Given the description of an element on the screen output the (x, y) to click on. 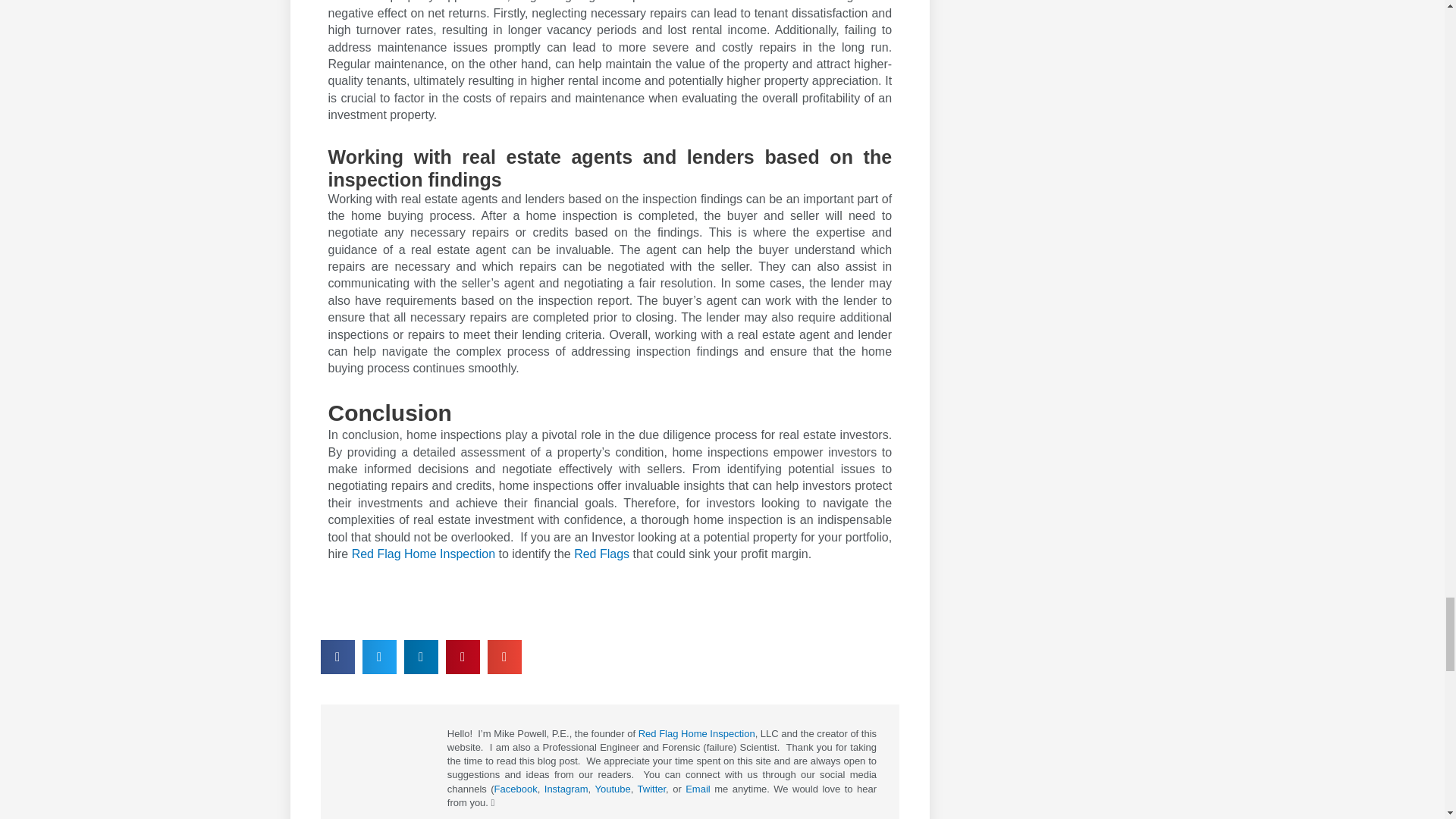
Red Flag Home Inspection (697, 733)
Red Flag Home Inspection (423, 553)
Red Flags (600, 553)
Red Flag Home Inspection (423, 553)
Facebook (516, 788)
Red Flag (600, 553)
